Given the description of an element on the screen output the (x, y) to click on. 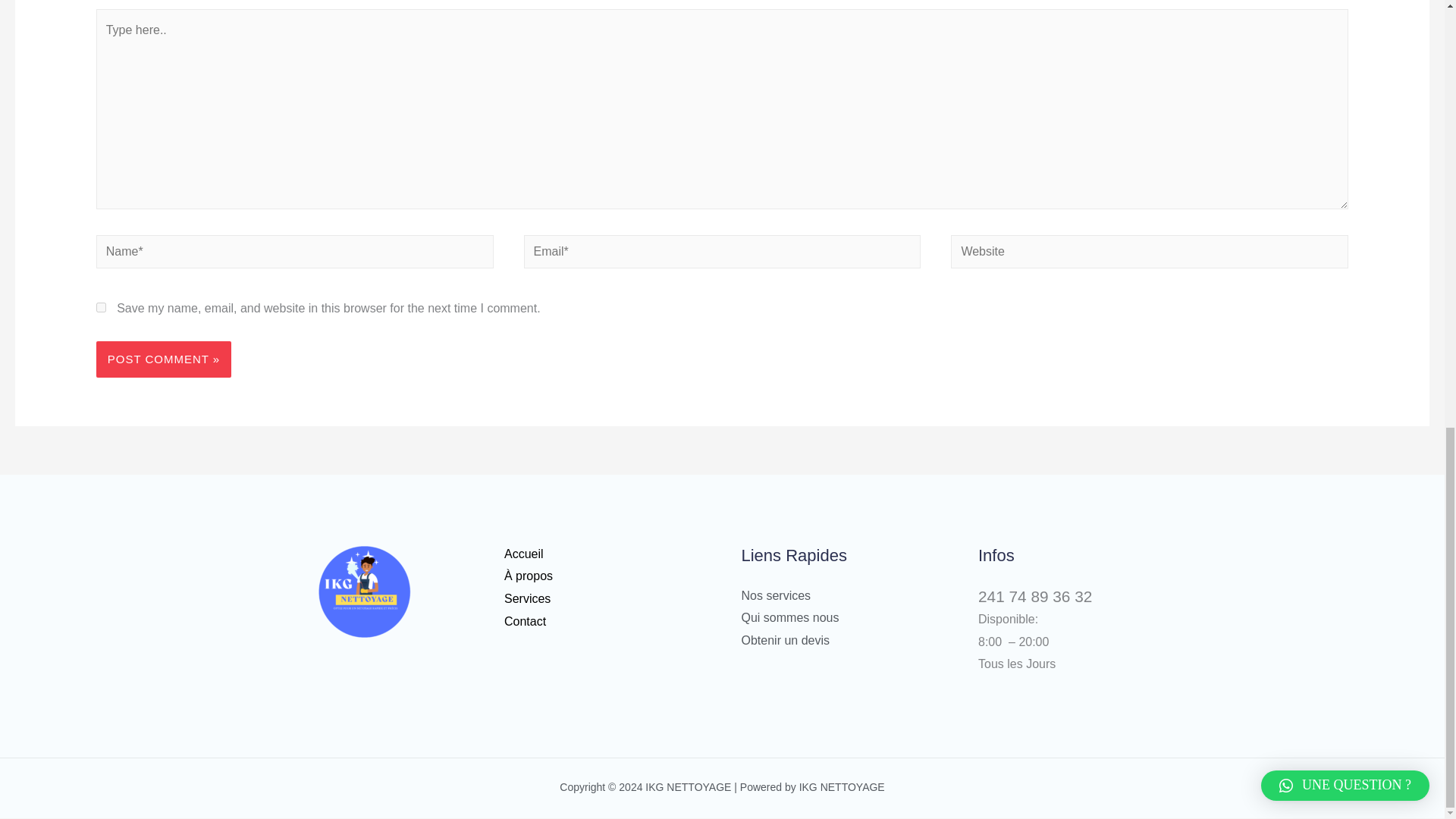
Contact (524, 621)
Qui sommes nous (790, 617)
Nos services (775, 594)
yes (101, 307)
Obtenir un devis (785, 640)
Services (526, 598)
Accueil (523, 553)
